Given the description of an element on the screen output the (x, y) to click on. 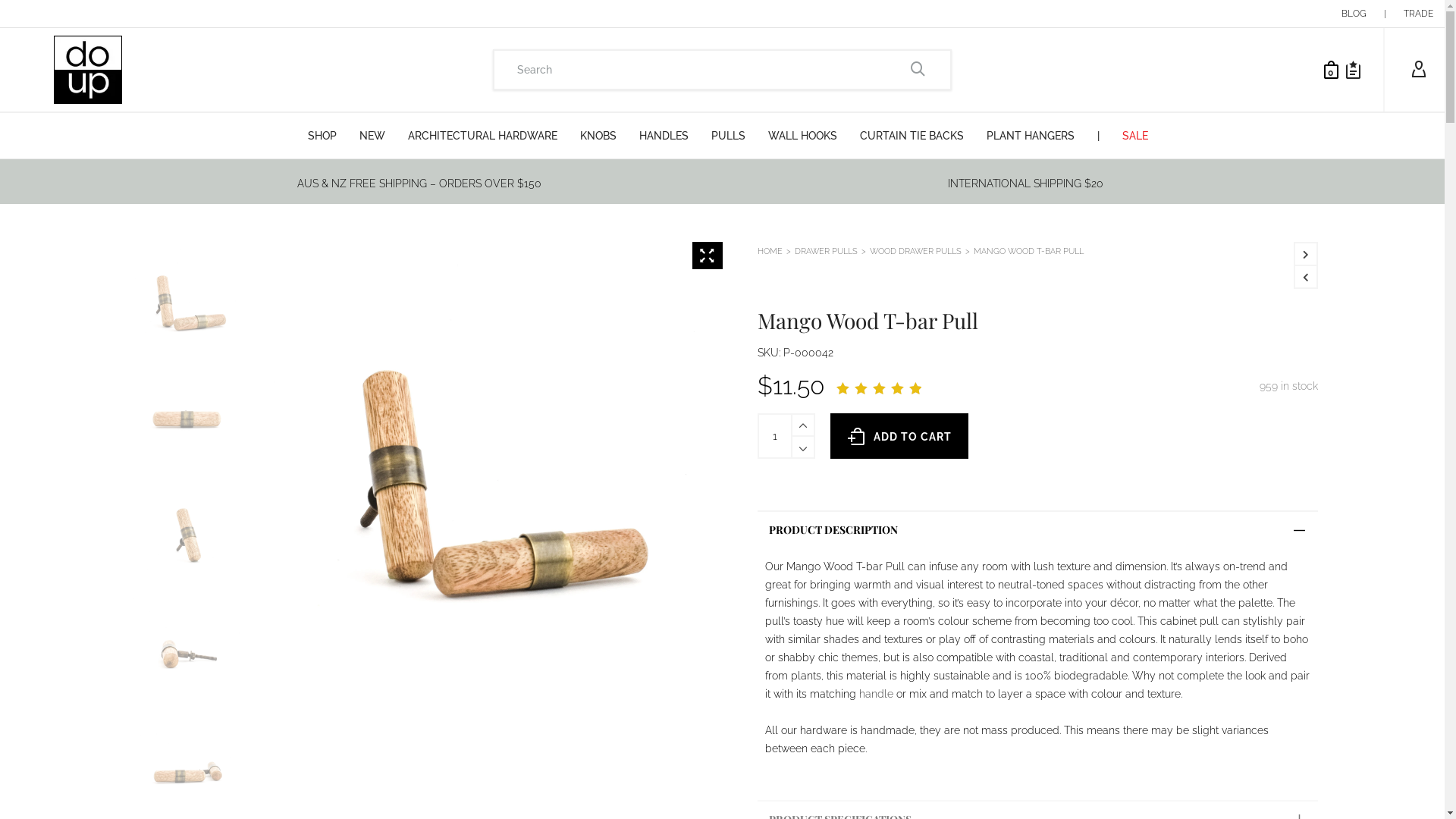
ADD TO CART Element type: text (899, 435)
DSC 1666 Mango wood and antique banding pull Element type: hover (185, 651)
HANDLES Element type: text (663, 135)
NEW Element type: text (372, 135)
KNOBS Element type: text (597, 135)
WOOD DRAWER PULLS Element type: text (915, 250)
DSC 1657 Mango wood and antique banding pull Element type: hover (486, 476)
WALL HOOKS Element type: text (802, 135)
| Element type: text (1097, 135)
TRADE Element type: text (1418, 13)
SALE Element type: text (1134, 135)
DRAWER PULLS Element type: text (825, 250)
| Element type: text (1384, 13)
View your wishlist Element type: hover (1353, 69)
INTERNATIONAL SHIPPING $20 Element type: text (1025, 183)
SHOP Element type: text (322, 135)
PLANT HANGERS Element type: text (1030, 135)
DSC 1664 Mango wood and antique banding pull Element type: hover (185, 534)
PULLS Element type: text (727, 135)
DSC 1663 Mango wood and antique banding pull Element type: hover (185, 417)
handle Element type: text (876, 693)
0 Element type: text (1327, 69)
ARCHITECTURAL HARDWARE Element type: text (482, 135)
DSC 1657 Mango wood and antique banding pull Element type: hover (185, 301)
CURTAIN TIE BACKS Element type: text (911, 135)
Qty Element type: hover (774, 435)
BLOG Element type: text (1353, 13)
HOME Element type: text (769, 250)
